Given the description of an element on the screen output the (x, y) to click on. 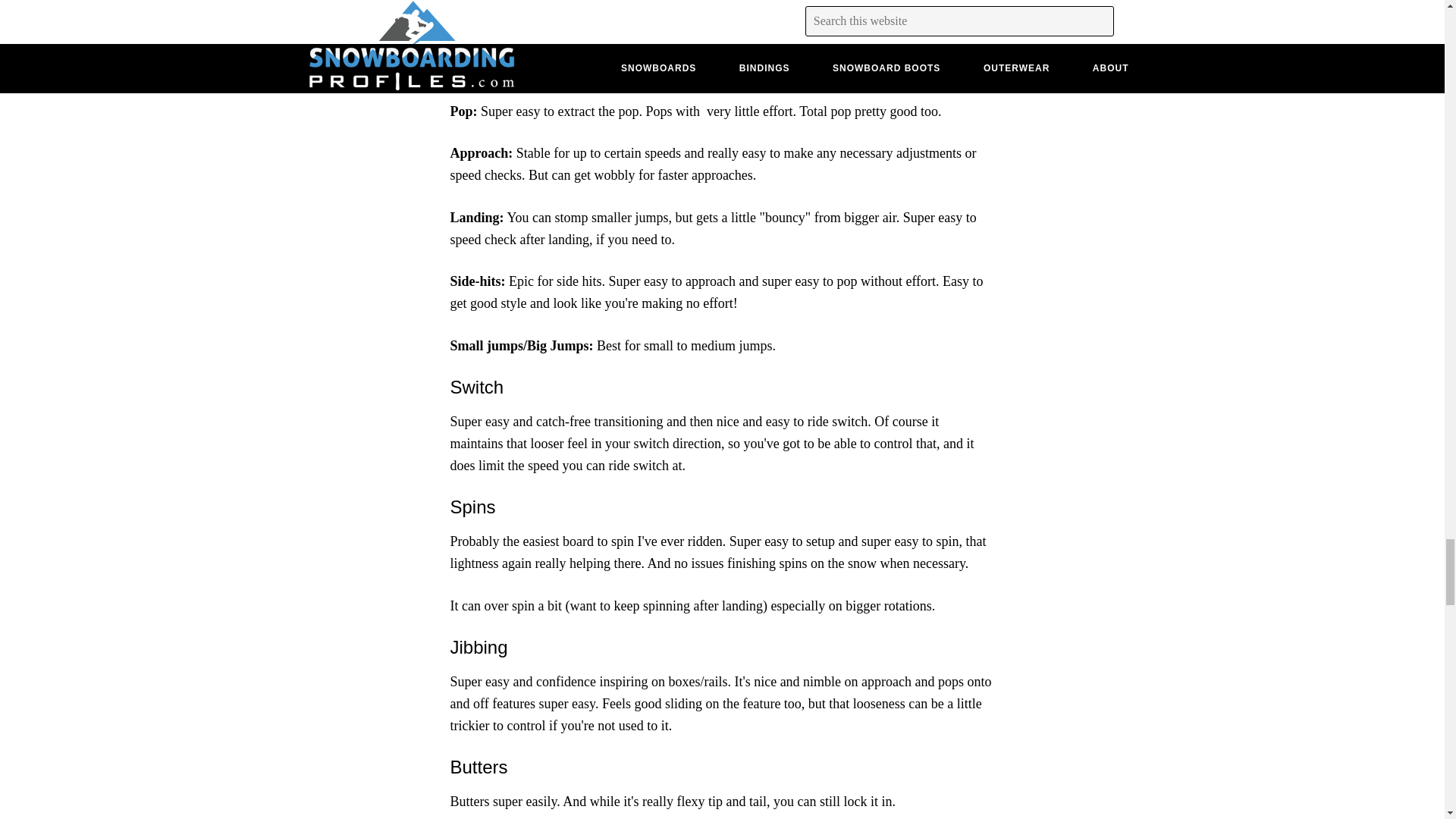
Responsive Video (721, 4)
